Given the description of an element on the screen output the (x, y) to click on. 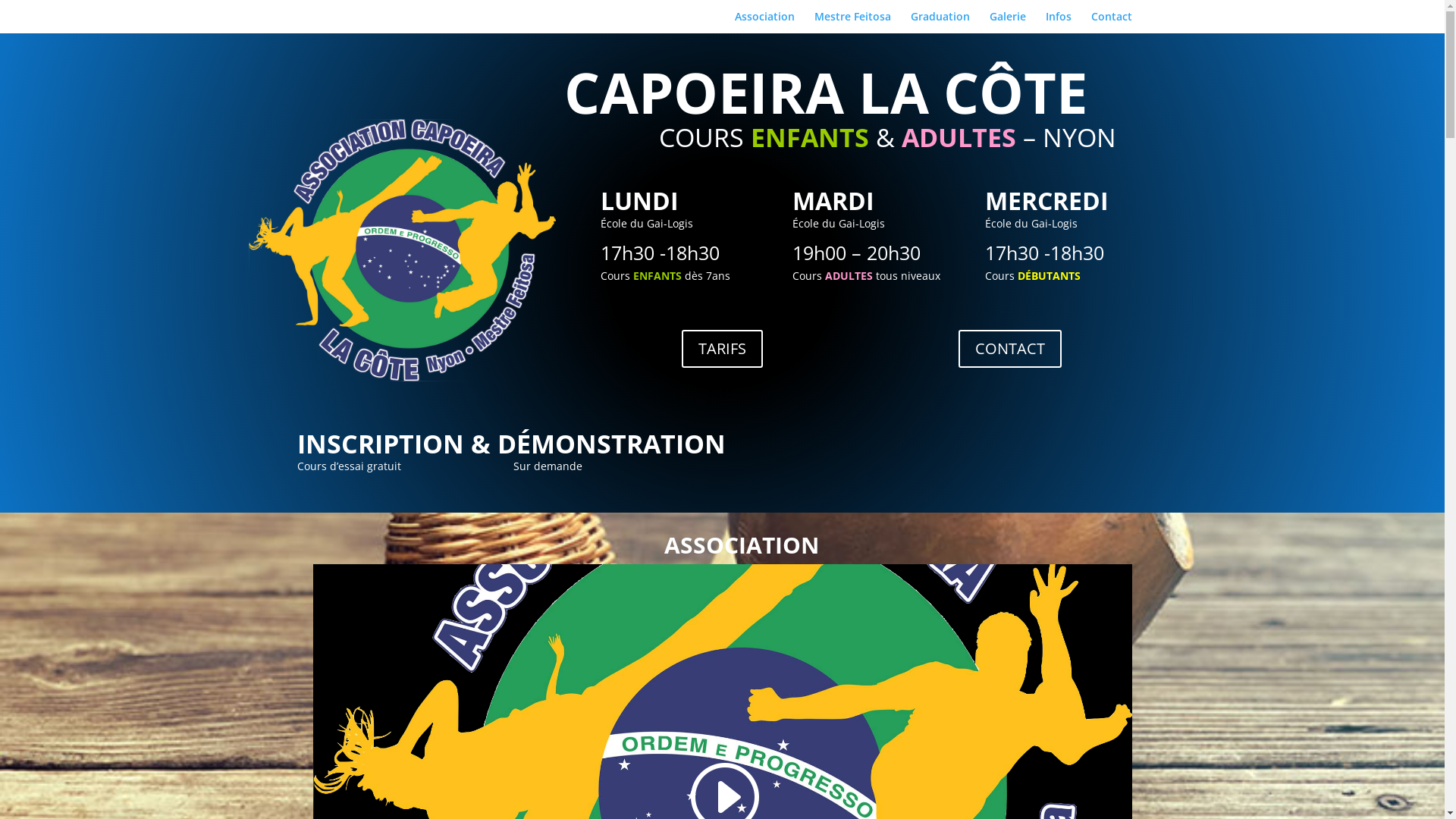
Logo Facebook Element type: hover (401, 250)
Association Element type: text (763, 22)
Graduation Element type: text (939, 22)
Infos Element type: text (1057, 22)
CONTACT Element type: text (1009, 348)
Contact Element type: text (1110, 22)
TARIFS Element type: text (721, 348)
Mestre Feitosa Element type: text (852, 22)
Galerie Element type: text (1006, 22)
